Given the description of an element on the screen output the (x, y) to click on. 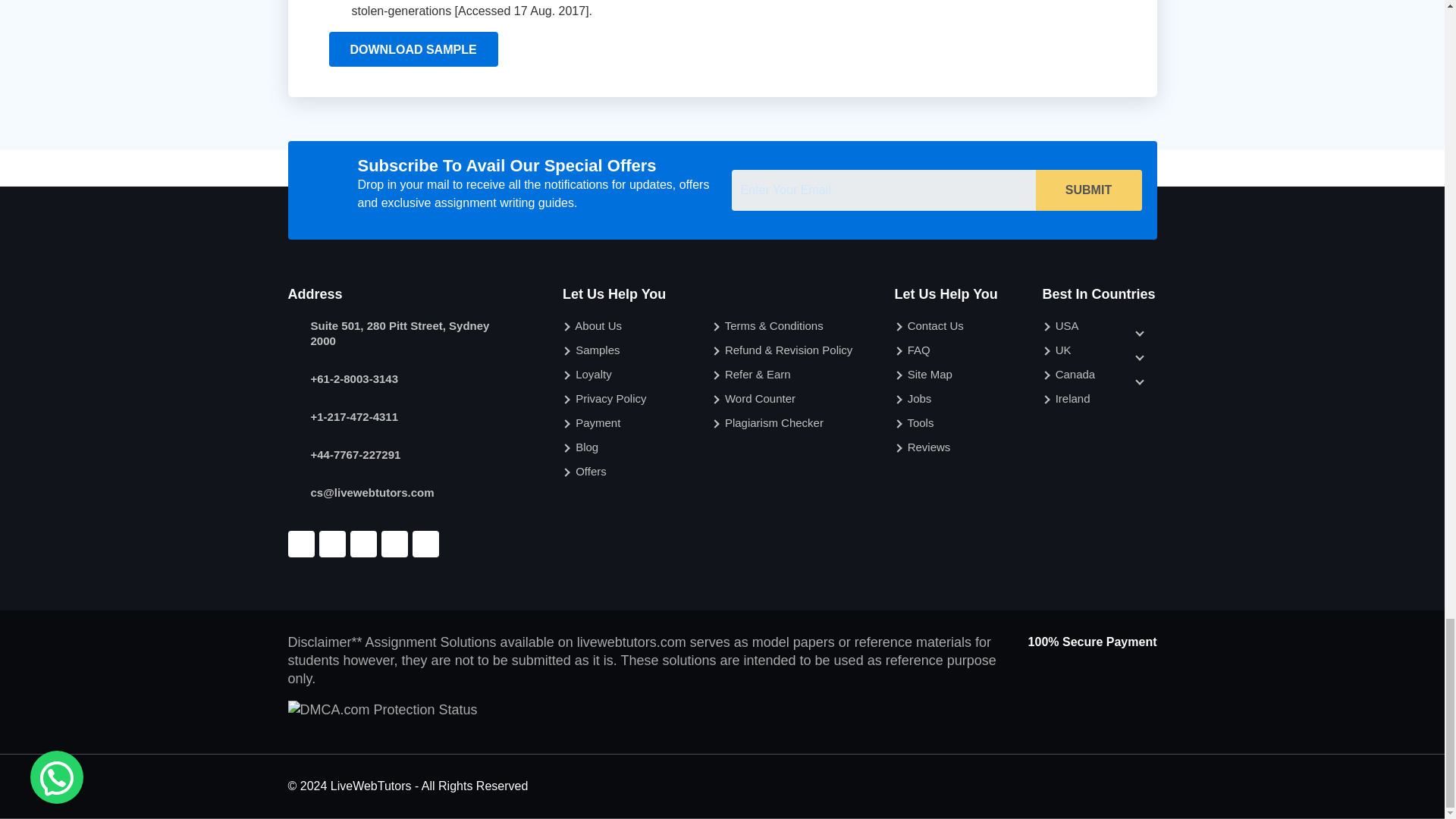
DMCA.com Protection Status (382, 709)
